Given the description of an element on the screen output the (x, y) to click on. 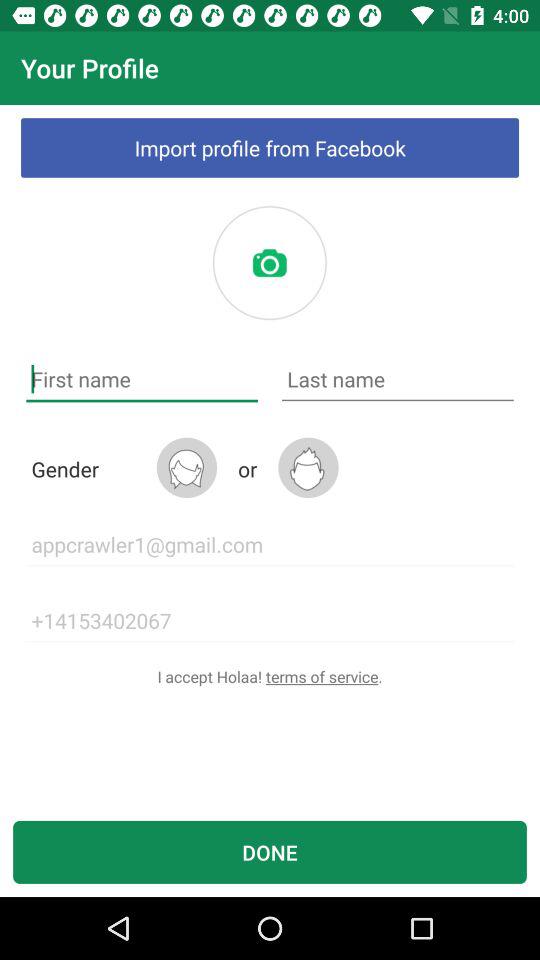
turn on the icon next to the gender item (186, 467)
